Given the description of an element on the screen output the (x, y) to click on. 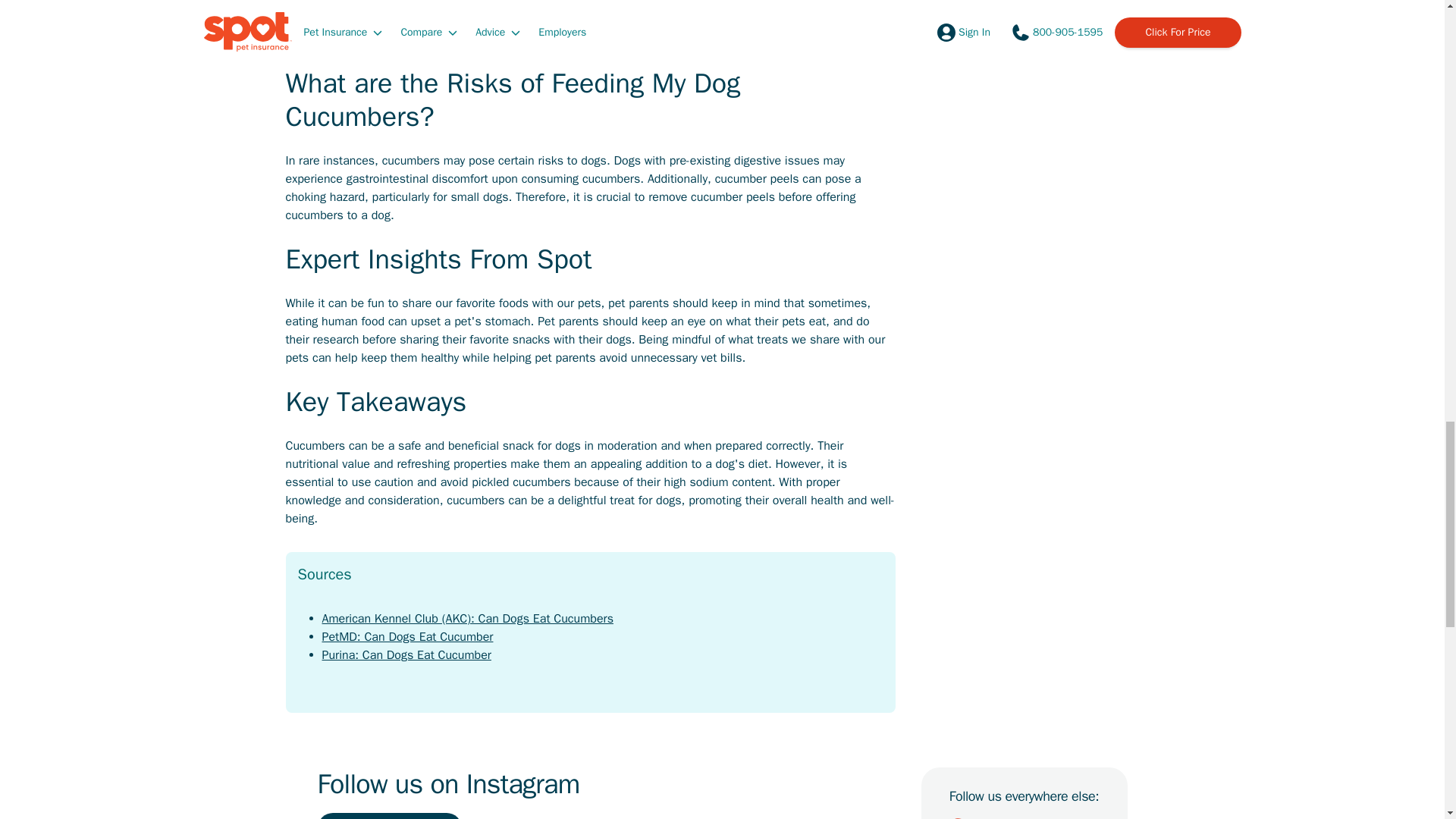
Spot on YouTube (1090, 817)
Spot on TikTok (1023, 817)
Spot on X (1056, 817)
Spot on LinkedIn (990, 817)
Spot on Facebook (956, 817)
